Given the description of an element on the screen output the (x, y) to click on. 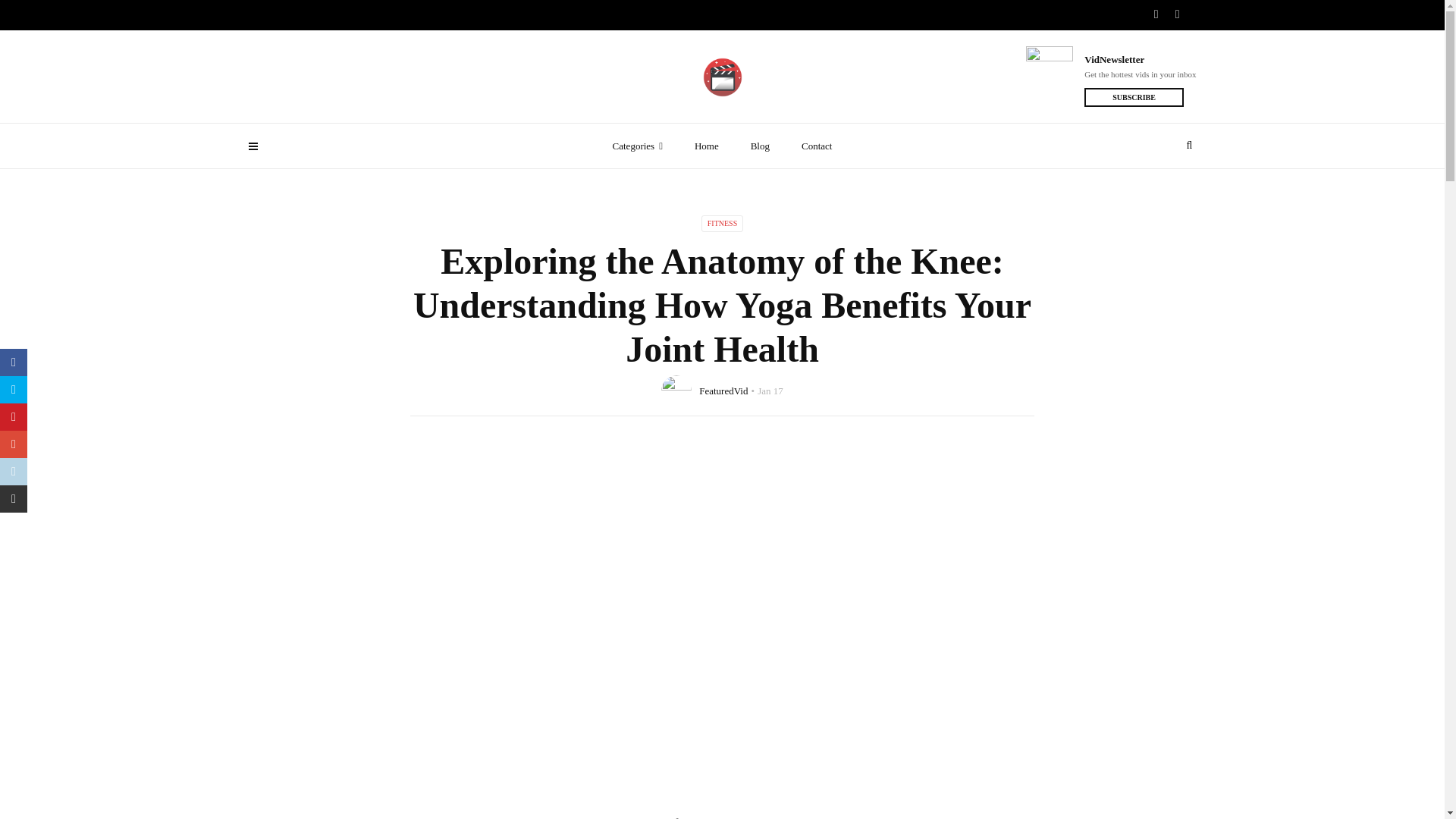
Home (706, 145)
FITNESS (721, 223)
FeaturedVid (723, 390)
Contact (816, 145)
Blog (760, 145)
VidNewsletter (1139, 59)
SUBSCRIBE (1133, 97)
Categories (637, 145)
